Given the description of an element on the screen output the (x, y) to click on. 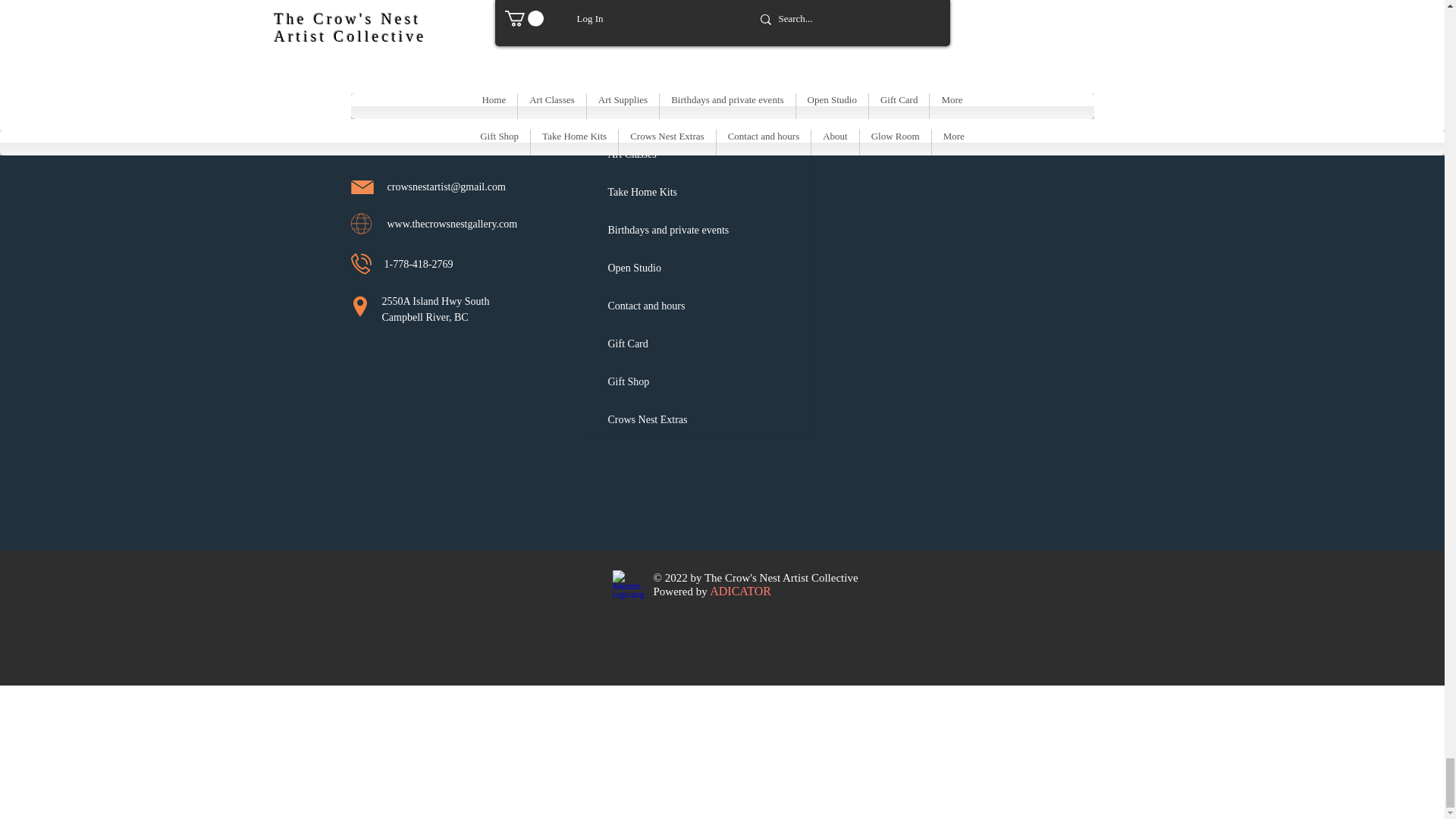
www.thecrowsnestgallery.com (451, 224)
Art Classes (697, 154)
Contact and hours (697, 306)
The Crow's Nest (423, 96)
Open Studio (697, 268)
Gift Card (697, 344)
Take Home Kits (697, 192)
Gift Shop (697, 382)
Join (1055, 2)
Birthdays and private events (697, 230)
